Given the description of an element on the screen output the (x, y) to click on. 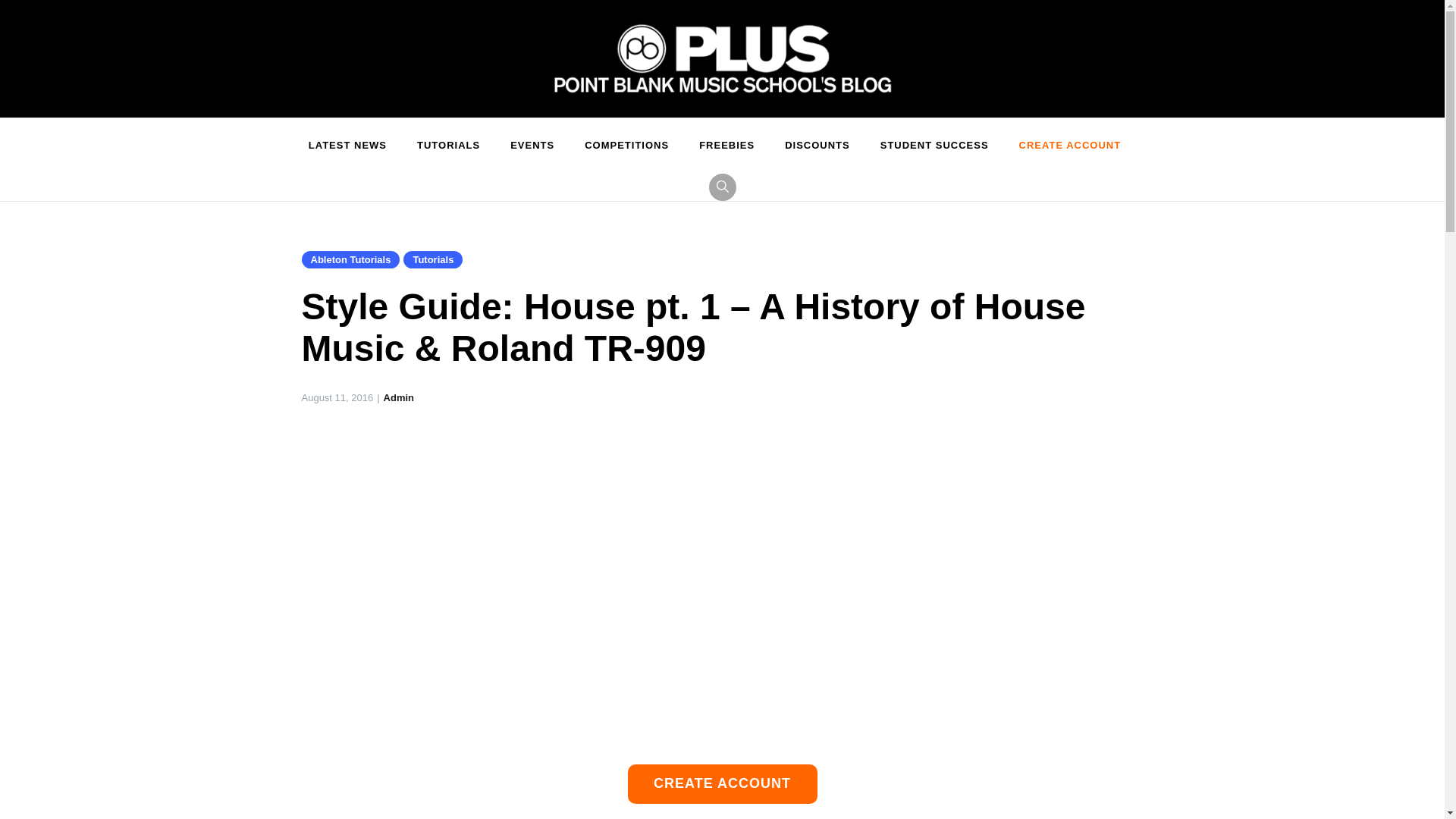
Tutorials (433, 259)
Ableton Tutorials (350, 259)
CREATE ACCOUNT (1070, 145)
August 11, 2016 (337, 397)
TUTORIALS (448, 145)
COMPETITIONS (626, 145)
STUDENT SUCCESS (934, 145)
DISCOUNTS (817, 145)
EVENTS (532, 145)
Admin (398, 397)
